Given the description of an element on the screen output the (x, y) to click on. 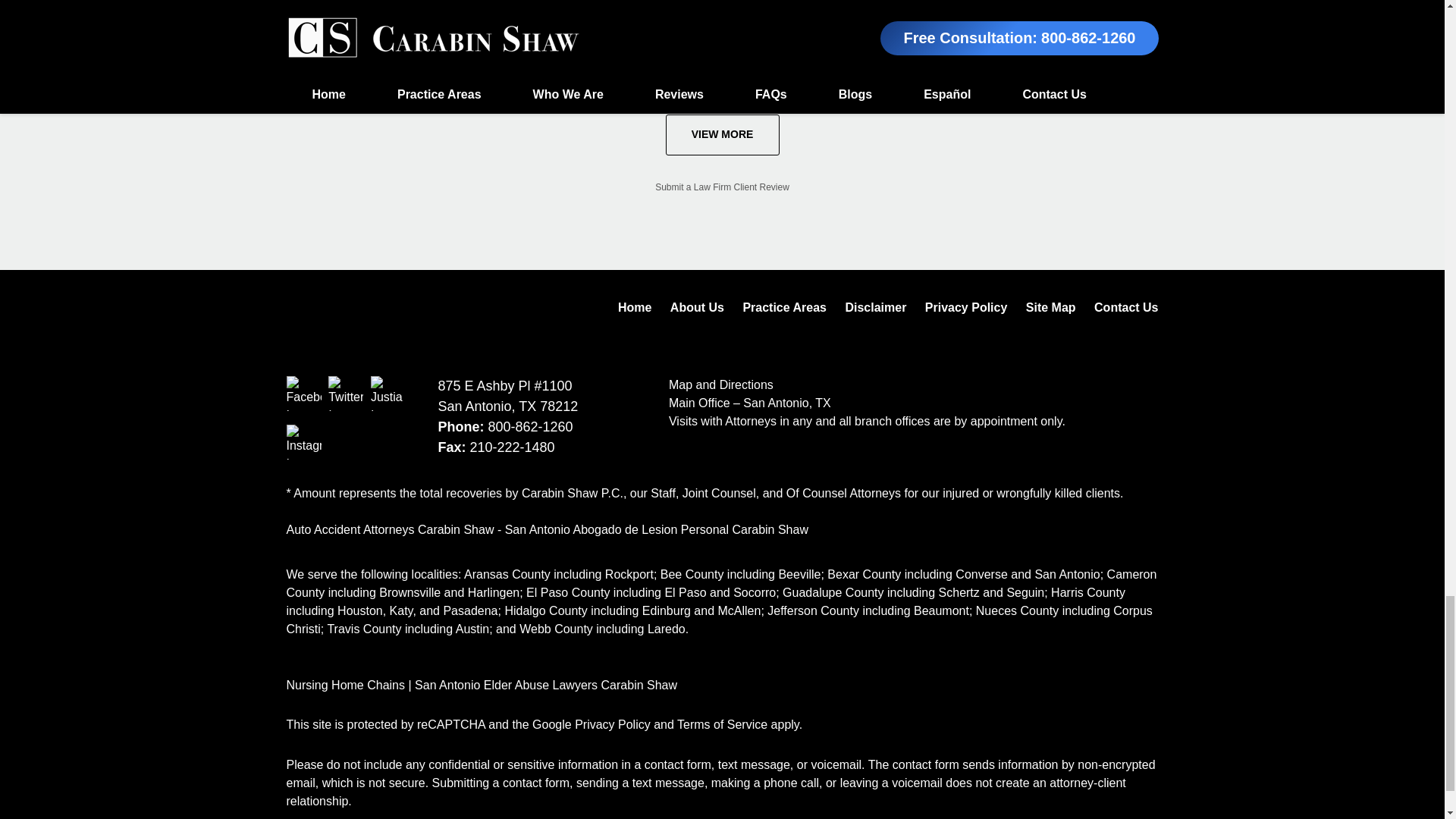
Instagram (303, 442)
Facebook (303, 393)
Justia (388, 393)
Twitter (345, 393)
